Given the description of an element on the screen output the (x, y) to click on. 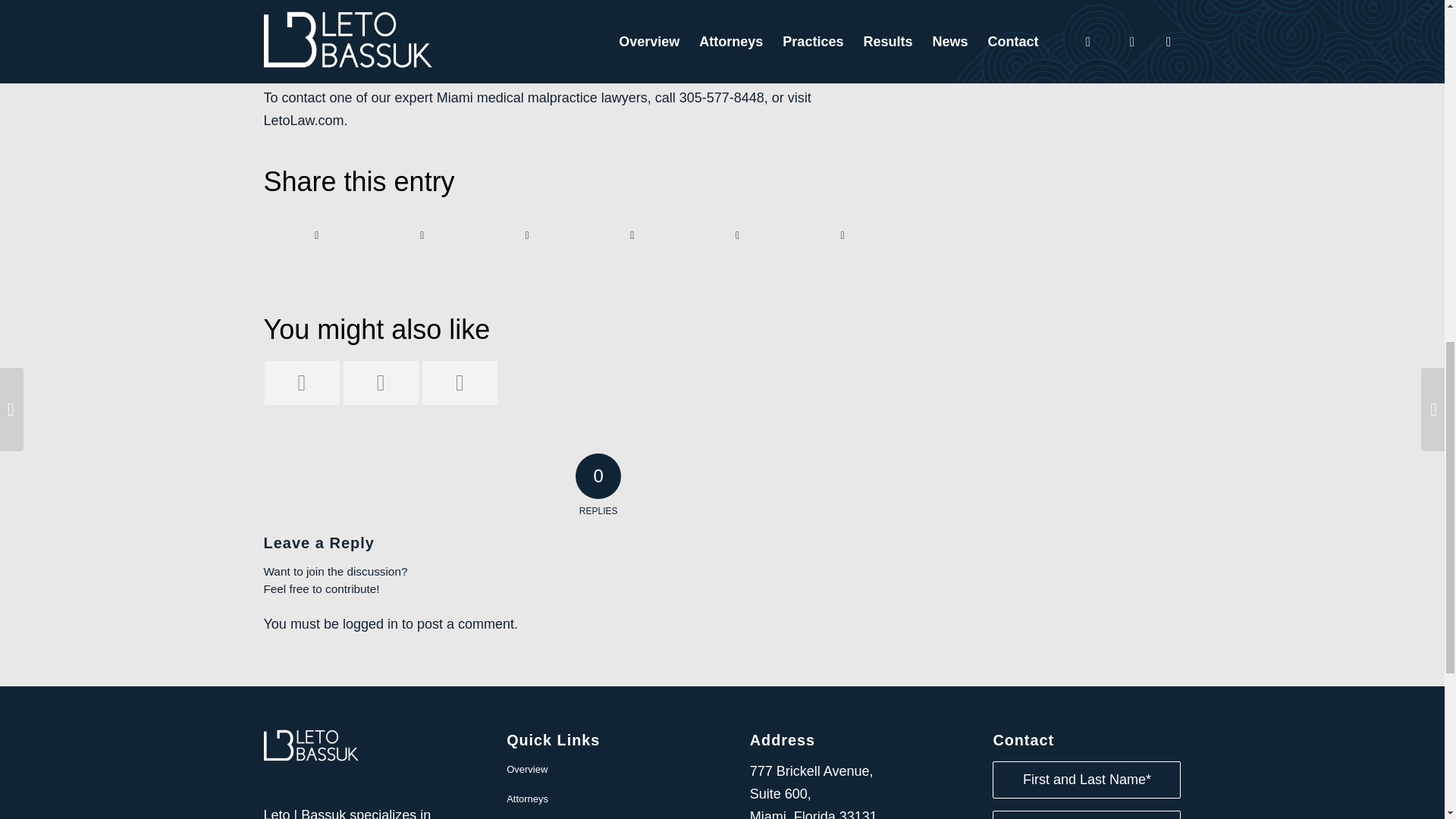
Miami medical malpractice lawyers (541, 97)
